Given the description of an element on the screen output the (x, y) to click on. 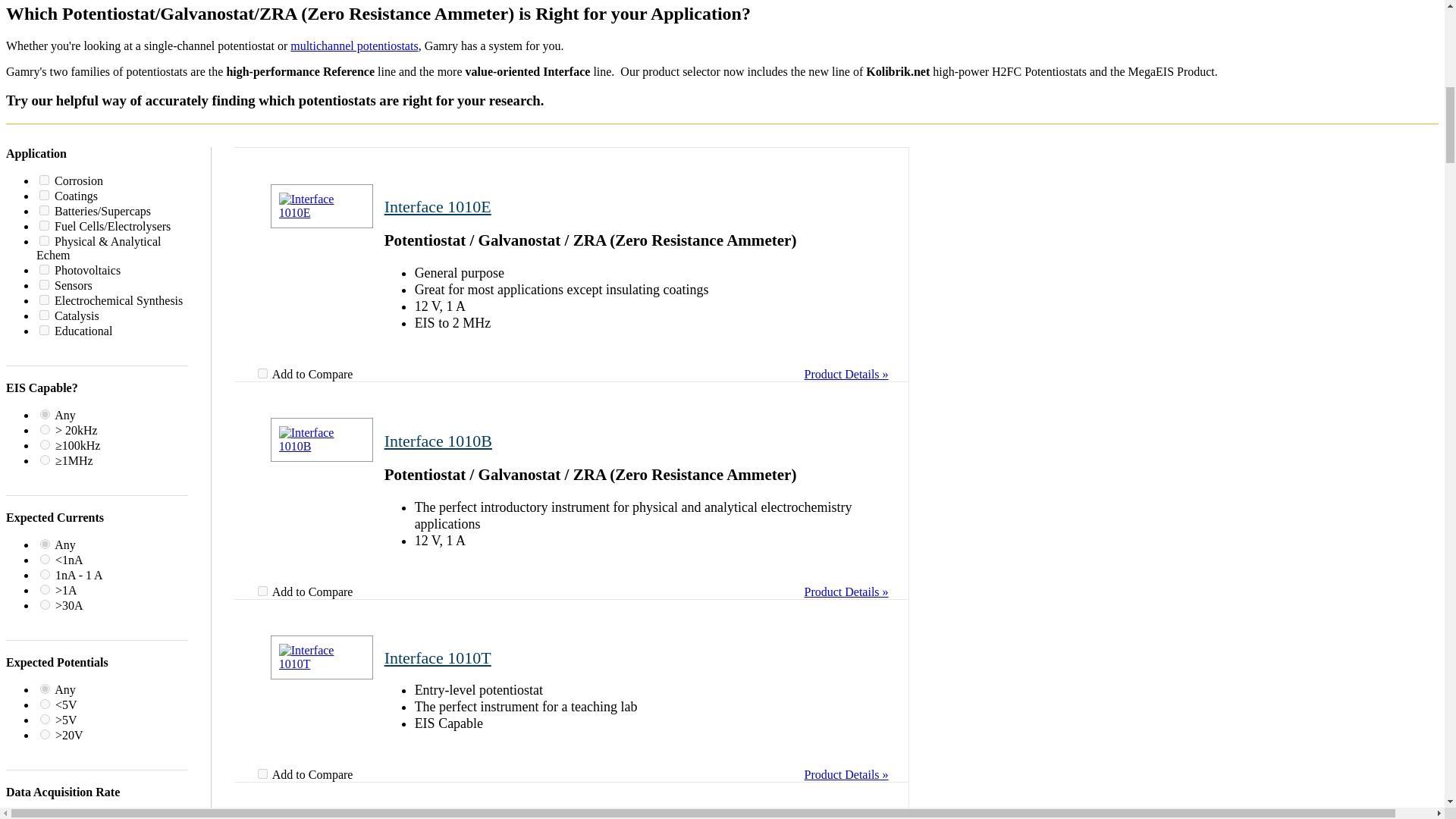
3 (44, 210)
63 (44, 574)
6 (44, 589)
5 (44, 269)
Potentiostat Interface 1010E with EIS (628, 239)
62 (44, 444)
50 (44, 315)
Multichannel Potentiostat (353, 45)
Electrochemical Impedance Spectroscopy (643, 322)
